Given the description of an element on the screen output the (x, y) to click on. 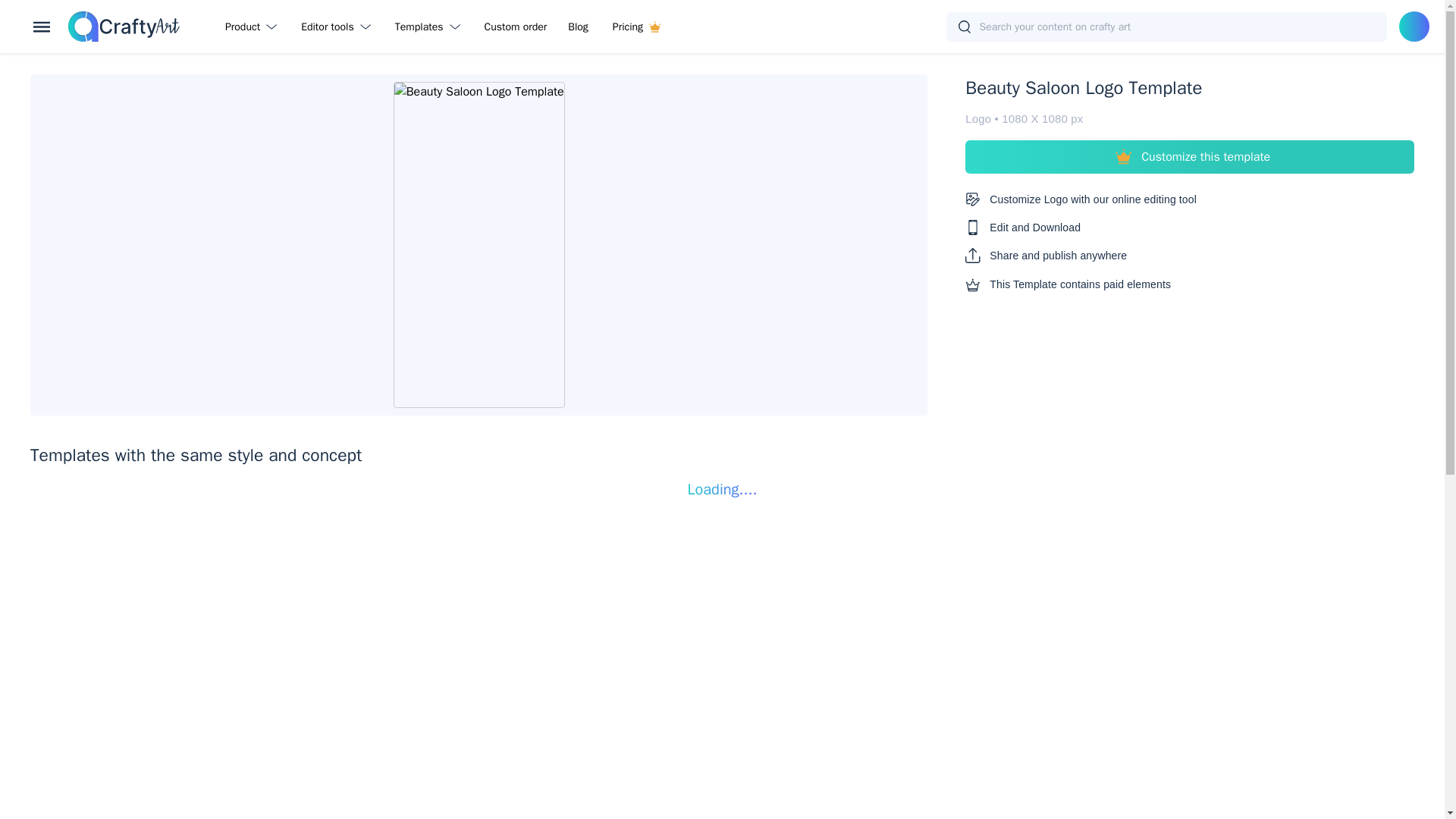
Custom order (516, 26)
Product (253, 26)
Blog (577, 26)
Pricing (635, 26)
Templates (430, 26)
Editor tools (338, 26)
